Given the description of an element on the screen output the (x, y) to click on. 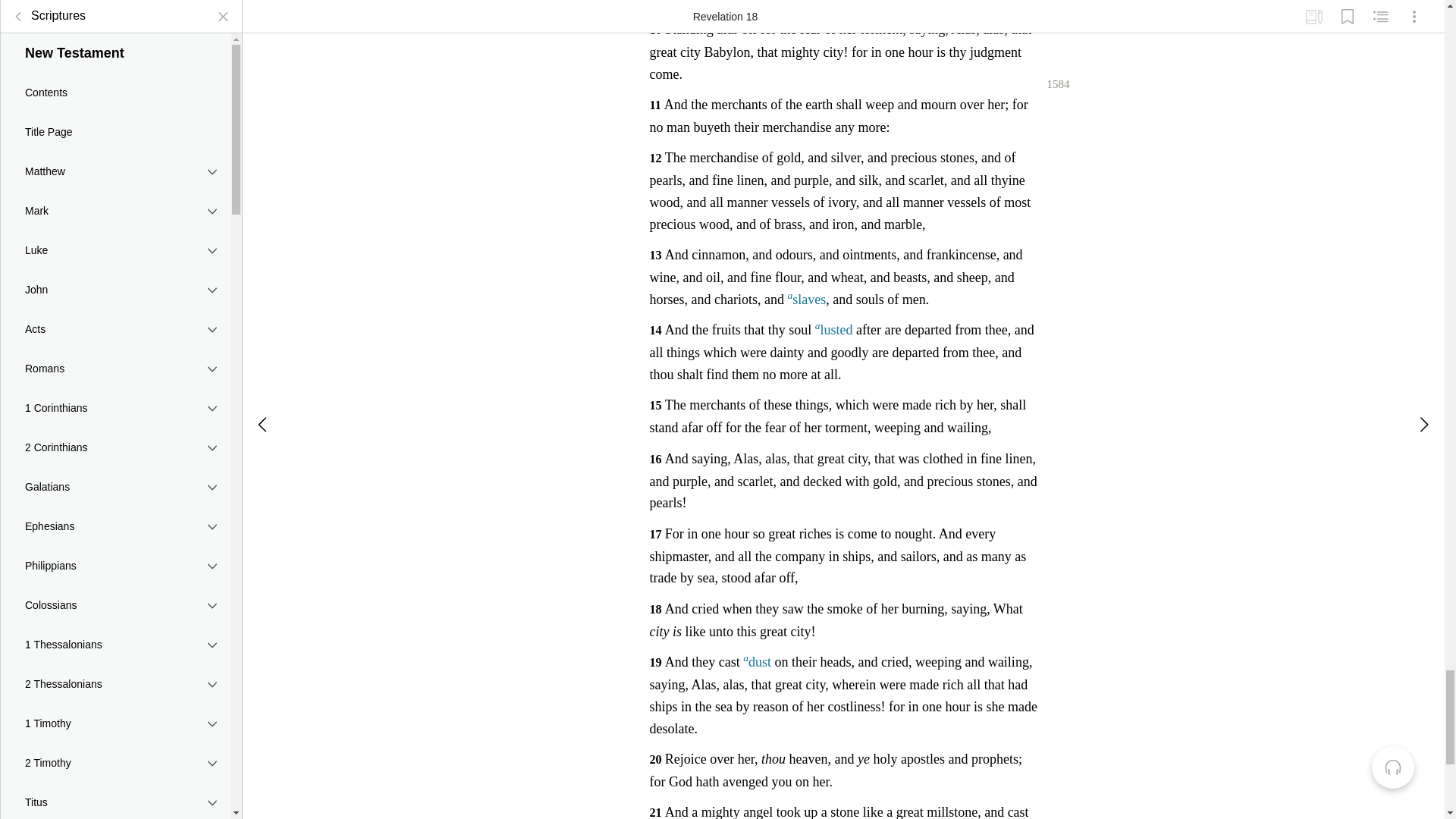
1 John (115, 208)
2 Peter (115, 169)
Revelation 7 (115, 590)
Philemon (115, 15)
3 John (115, 287)
1 Peter (115, 129)
Revelation 3 (115, 481)
Revelation 1 (115, 426)
Revelation 8 (115, 617)
James (115, 89)
Contents (115, 399)
Revelation 5 (115, 535)
Jude (115, 326)
Hebrews (115, 50)
2 John (115, 247)
